Given the description of an element on the screen output the (x, y) to click on. 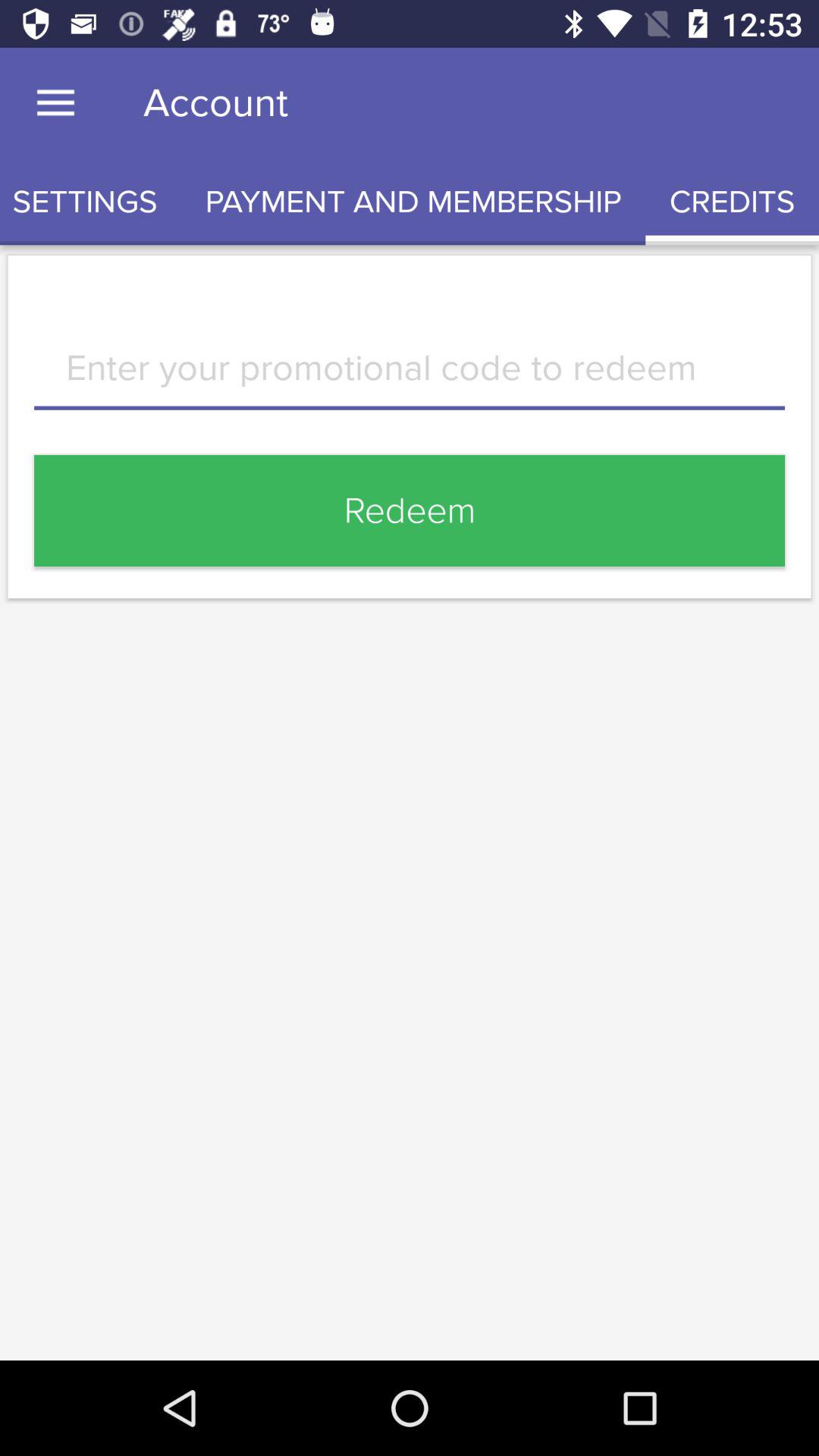
swipe until the credits item (732, 202)
